Given the description of an element on the screen output the (x, y) to click on. 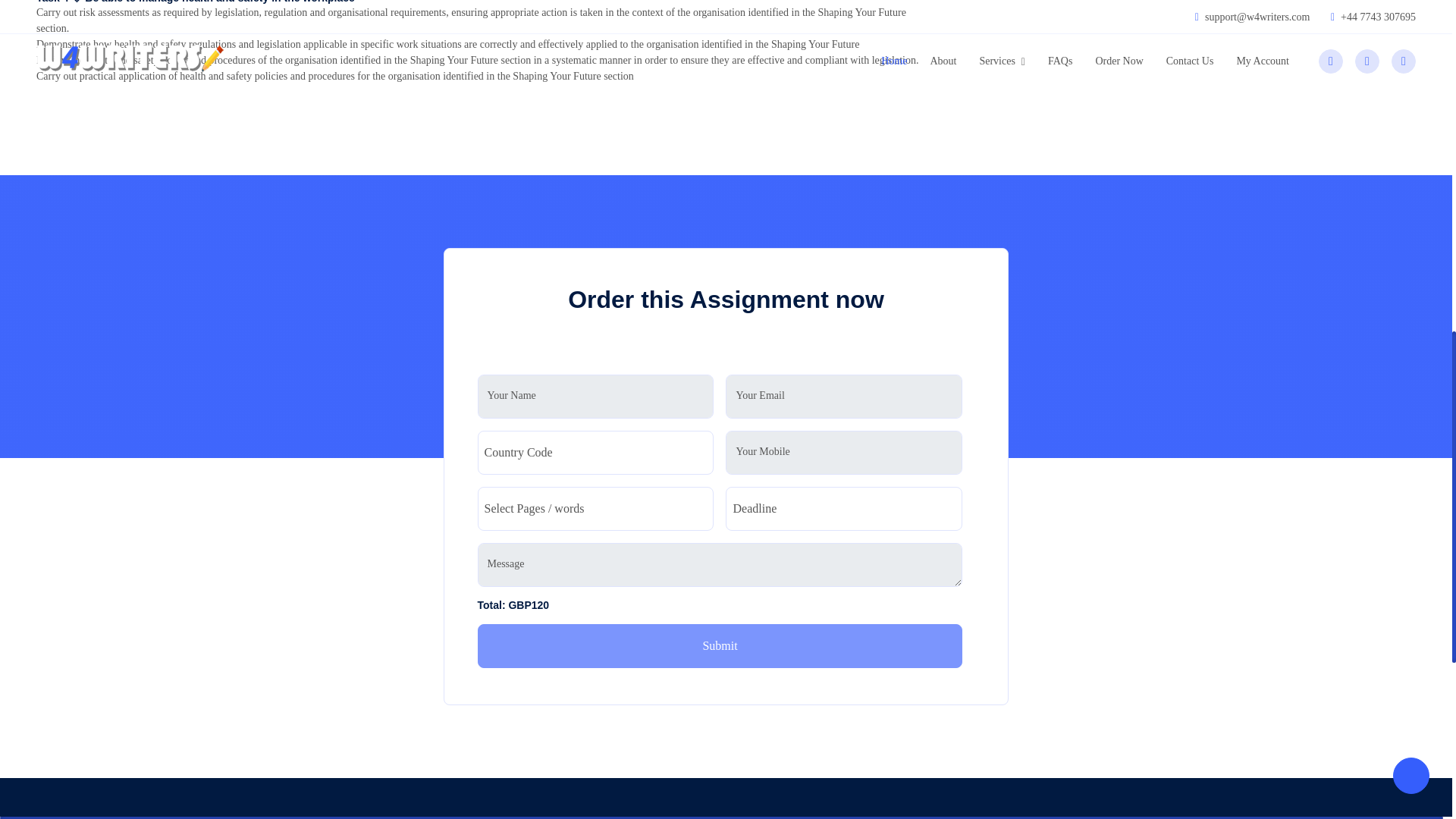
Submit (719, 646)
Read More (1070, 382)
Read More (1070, 247)
Read More (1070, 128)
What is the difference between prejudice and discrimination? (1182, 2)
Read More (1070, 472)
Read More (1070, 37)
Read More (1070, 578)
